Given the description of an element on the screen output the (x, y) to click on. 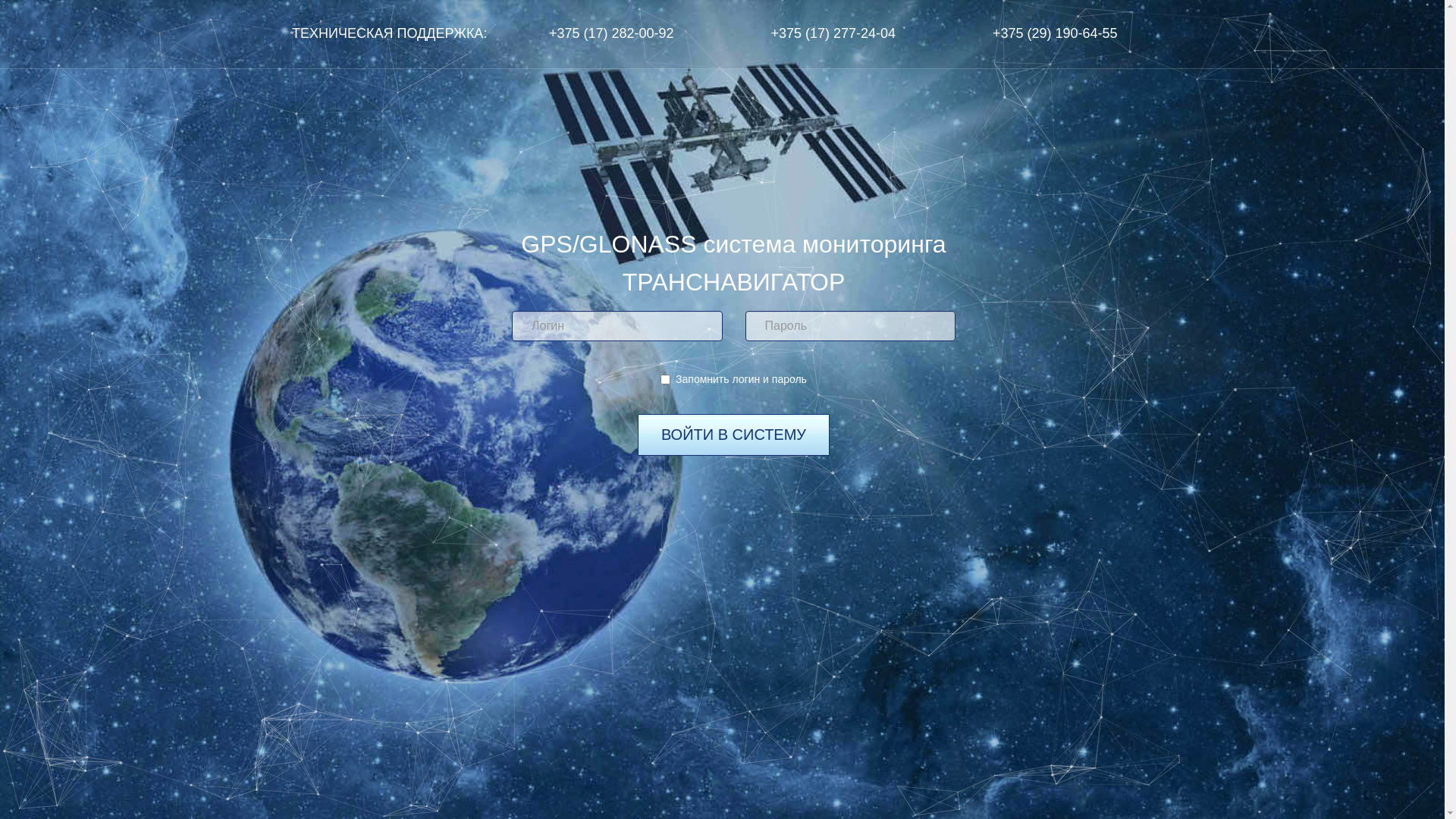
+375 (17) 282-00-92 Element type: text (611, 33)
+375 (29) 190-64-55 Element type: text (1054, 33)
+375 (17) 277-24-04 Element type: text (833, 33)
